Given the description of an element on the screen output the (x, y) to click on. 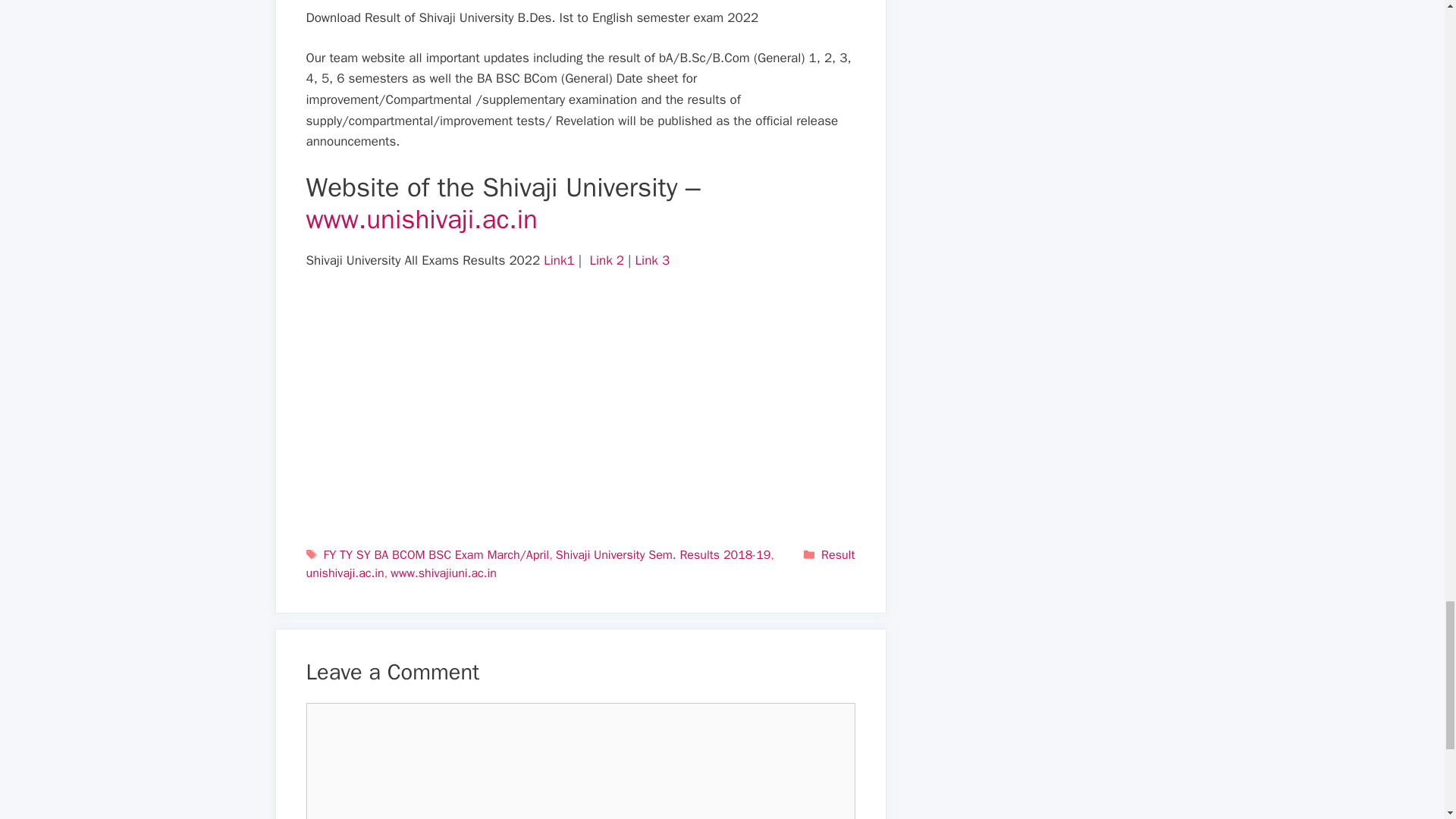
www.unishivaji.ac.in (421, 218)
Link1 (558, 260)
unishivaji.ac.in (344, 572)
Shivaji University Sem. Results 2018-19 (663, 554)
Link 2 (606, 260)
www.shivajiuni.ac.in (443, 572)
Result (837, 554)
Link 3 (651, 260)
